Given the description of an element on the screen output the (x, y) to click on. 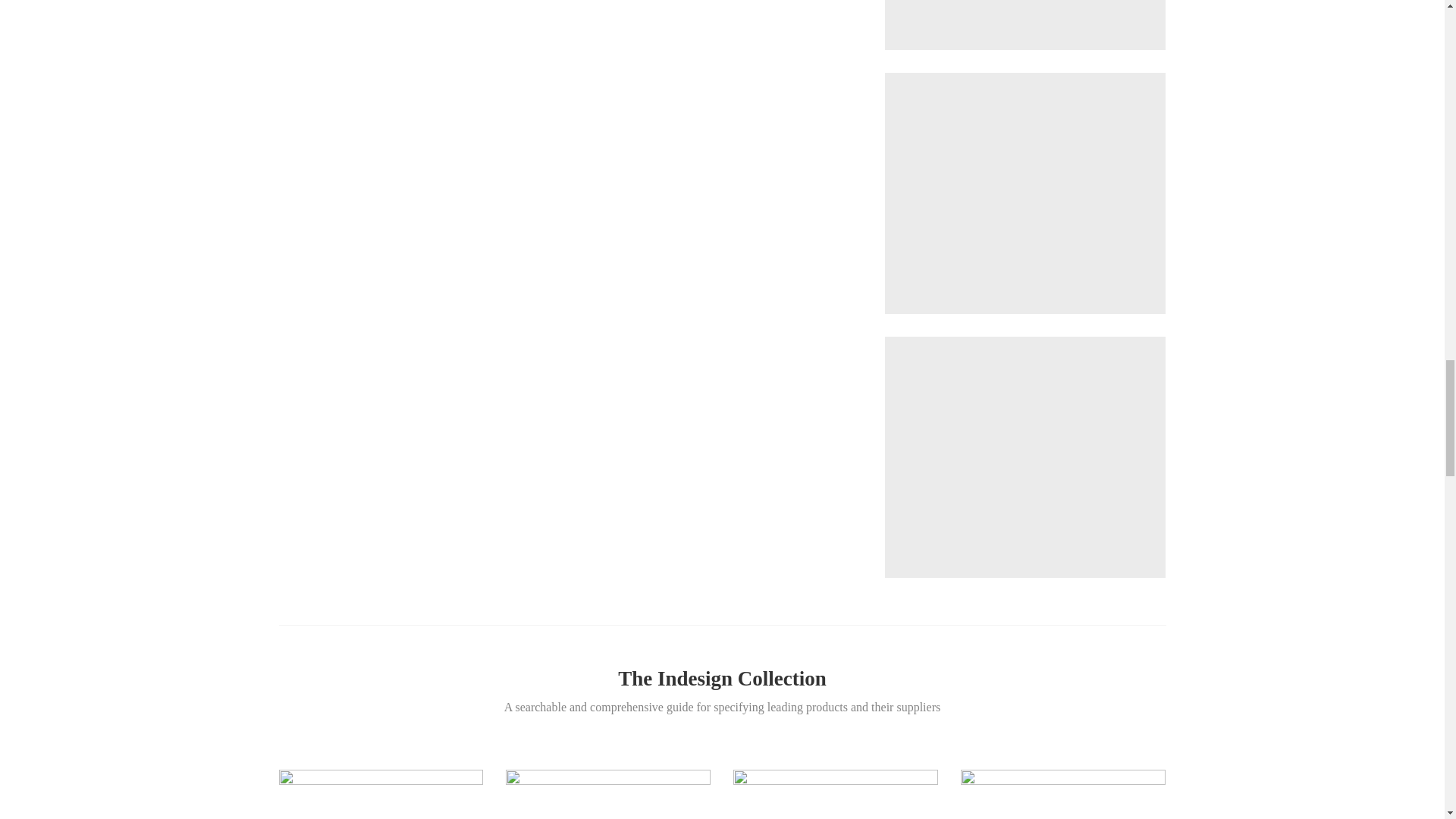
Pinterest (528, 4)
Twitter (488, 4)
Facebook (448, 4)
LinkedIn (568, 4)
